Given the description of an element on the screen output the (x, y) to click on. 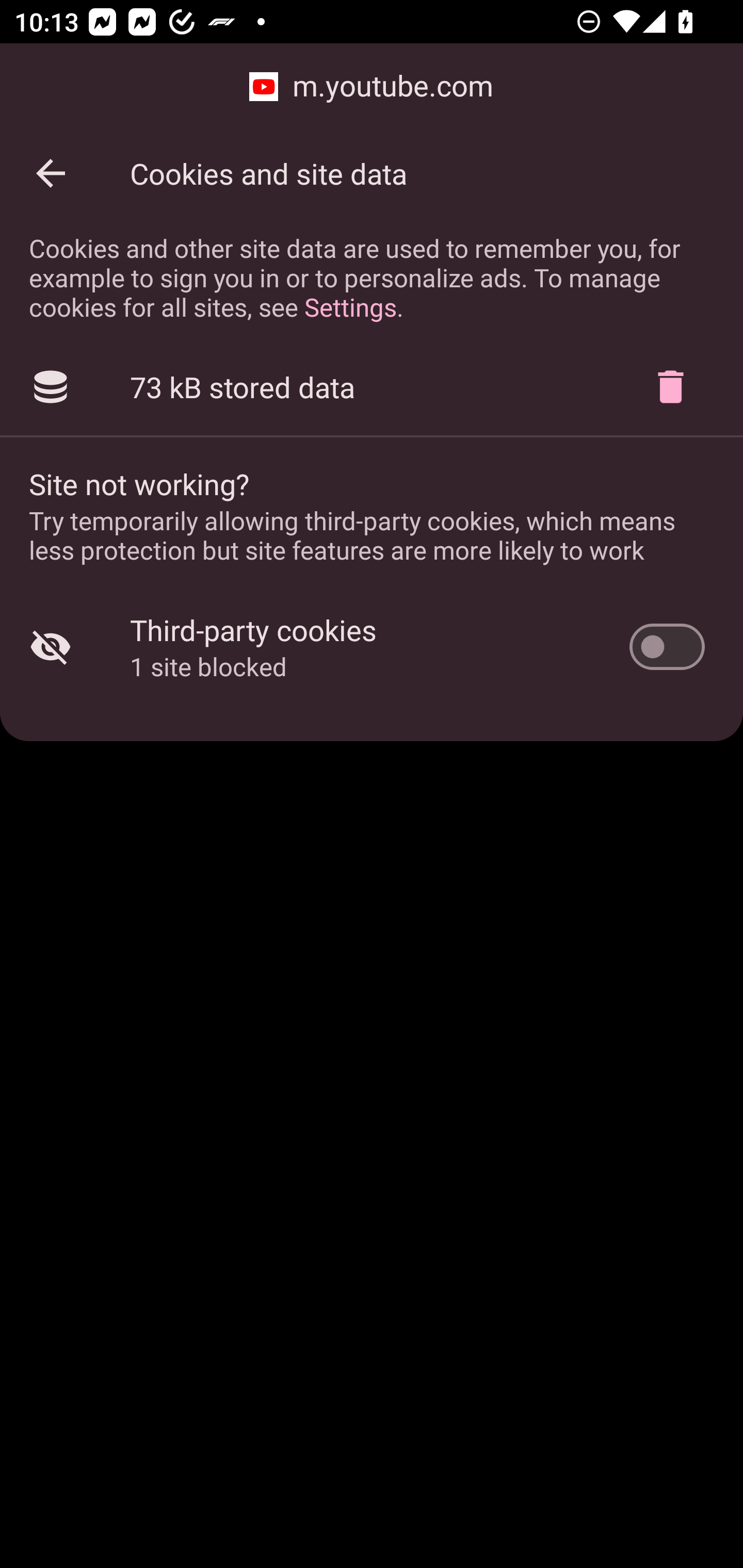
m.youtube.com (371, 86)
Back (50, 173)
73 kB stored data Delete cookies? (371, 386)
Third-party cookies 1 site blocked (371, 646)
